Given the description of an element on the screen output the (x, y) to click on. 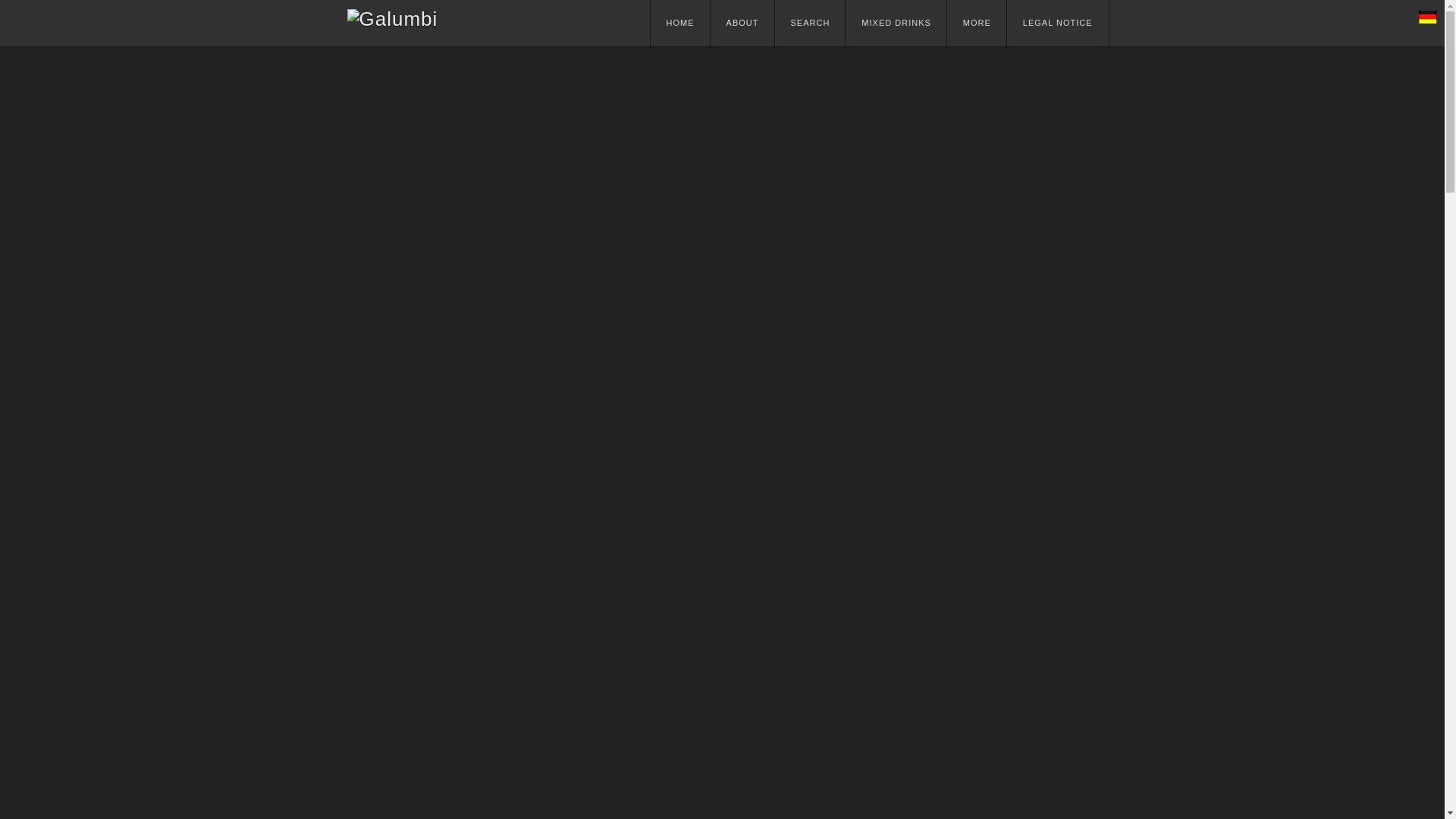
Menu (687, 27)
Galumbi (392, 18)
Skip to content (700, 24)
SEARCH (809, 22)
MIXED DRINKS (894, 22)
Search (1061, 87)
LEGAL NOTICE (1057, 22)
MORE (976, 22)
HOME (680, 22)
German  (1427, 16)
Skip to content (700, 24)
ABOUT (742, 22)
